Given the description of an element on the screen output the (x, y) to click on. 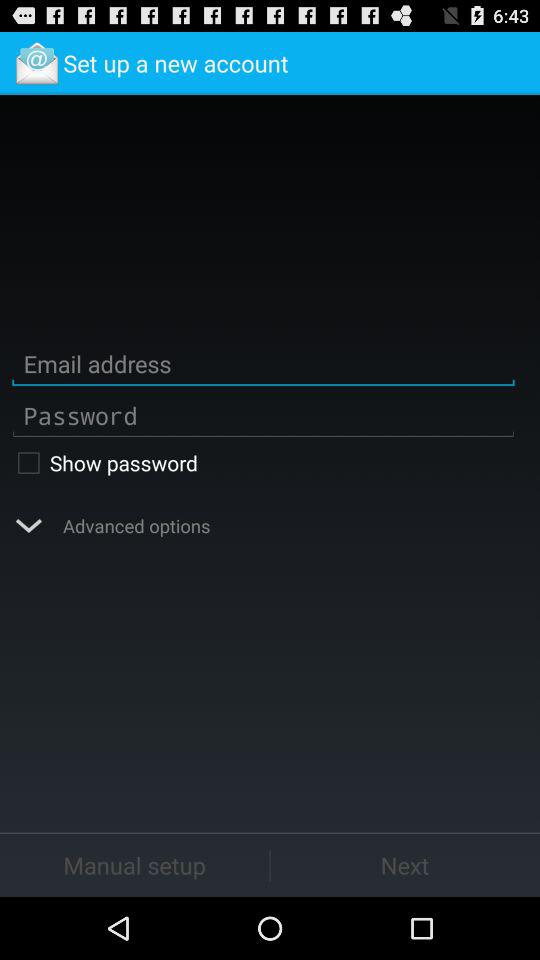
swipe to the show password item (263, 462)
